Given the description of an element on the screen output the (x, y) to click on. 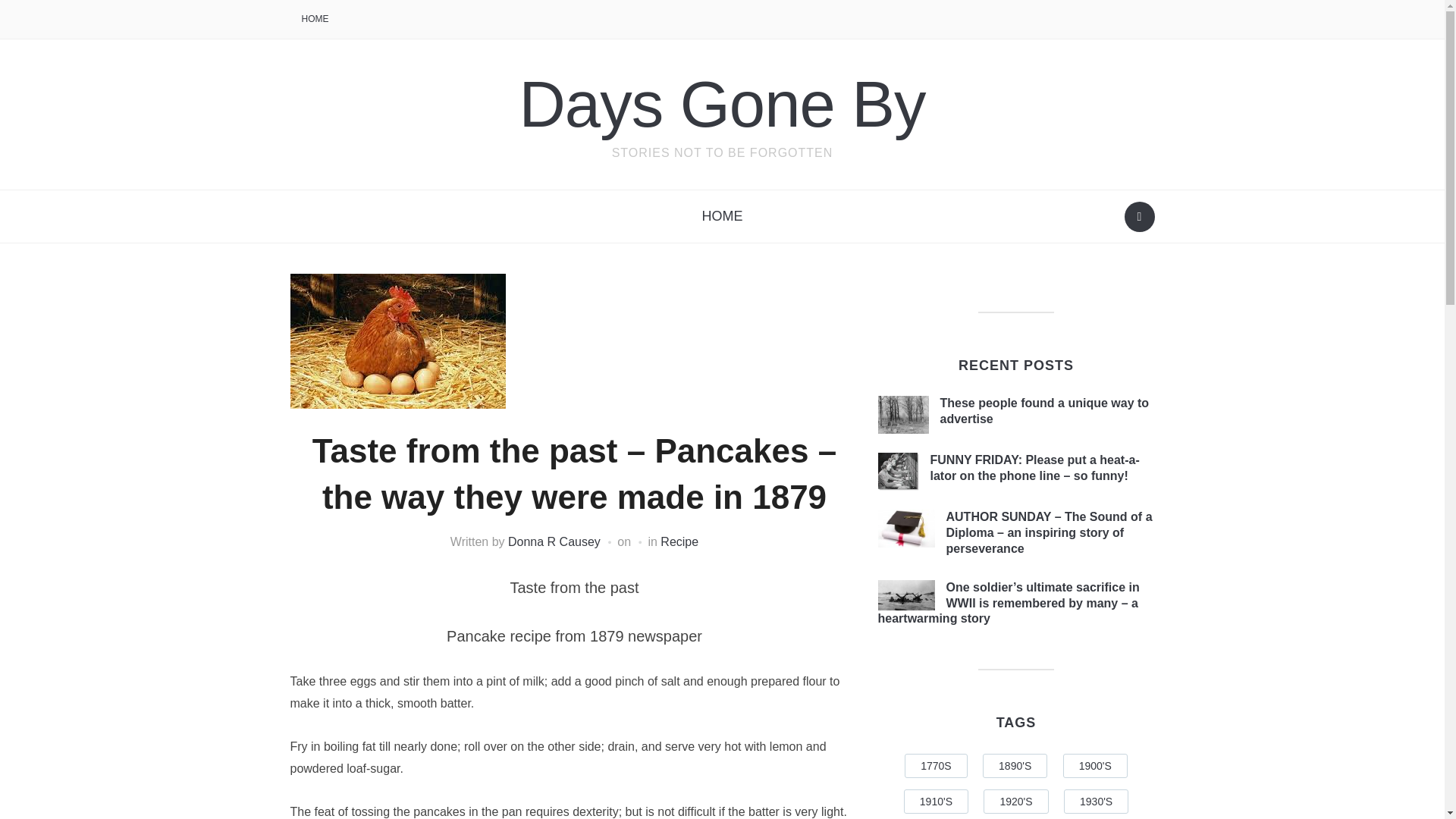
Recipe (679, 541)
1920'S (1016, 801)
1900'S (1094, 765)
1930'S (1096, 801)
Donna R Causey (553, 541)
Stories not to be forgotten (721, 103)
Days Gone By (721, 103)
Search (1139, 216)
HOME (722, 216)
1910'S (936, 801)
These people found a unique way to advertise (1045, 410)
1770S (935, 765)
1890'S (1014, 765)
Posts by Donna R Causey (553, 541)
HOME (314, 19)
